Given the description of an element on the screen output the (x, y) to click on. 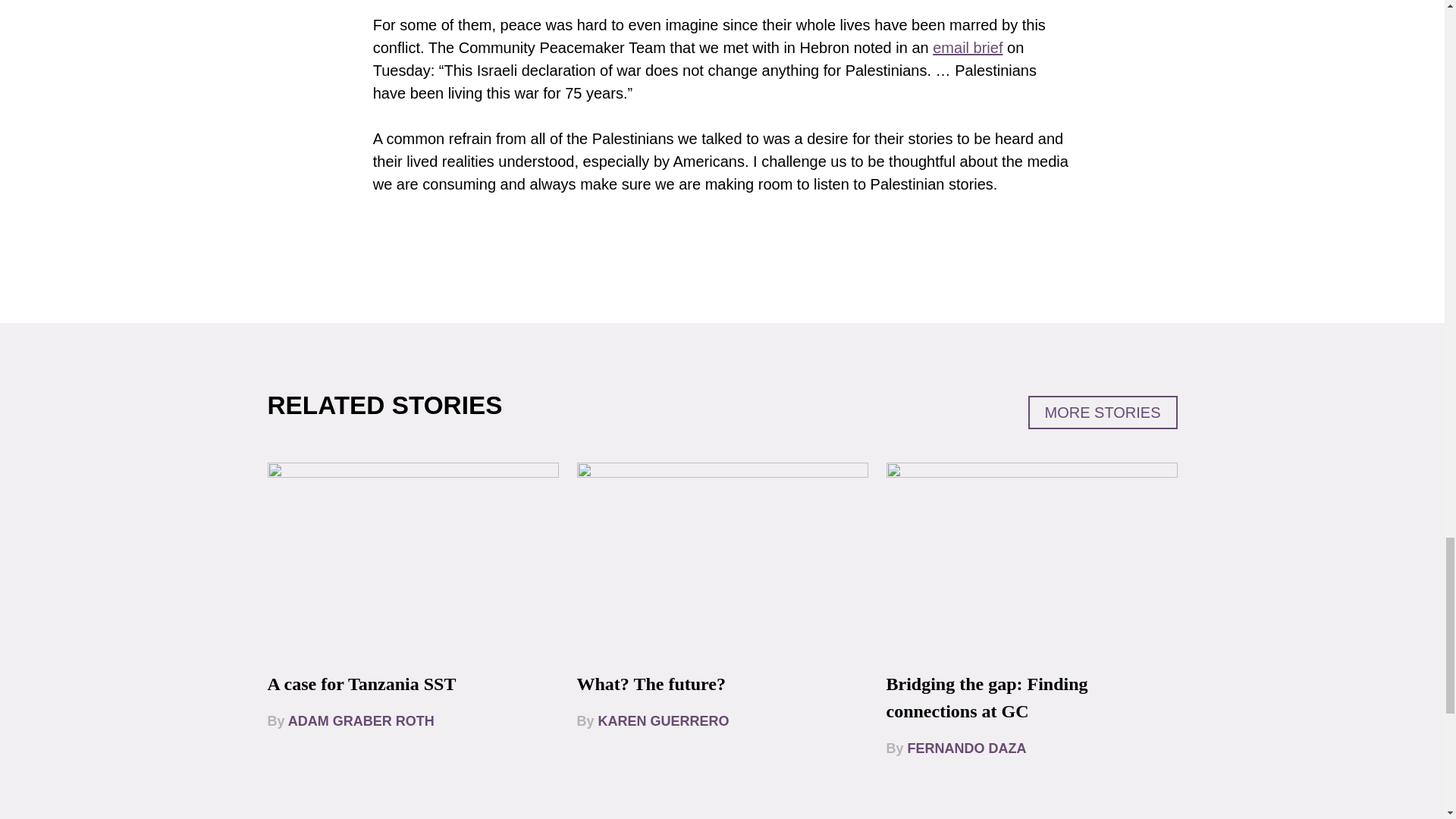
MORE STORIES (1102, 412)
KAREN GUERRERO (663, 720)
A case for Tanzania SST (360, 683)
ADAM GRABER ROTH (360, 720)
What? The future? (650, 683)
email brief (968, 47)
